Given the description of an element on the screen output the (x, y) to click on. 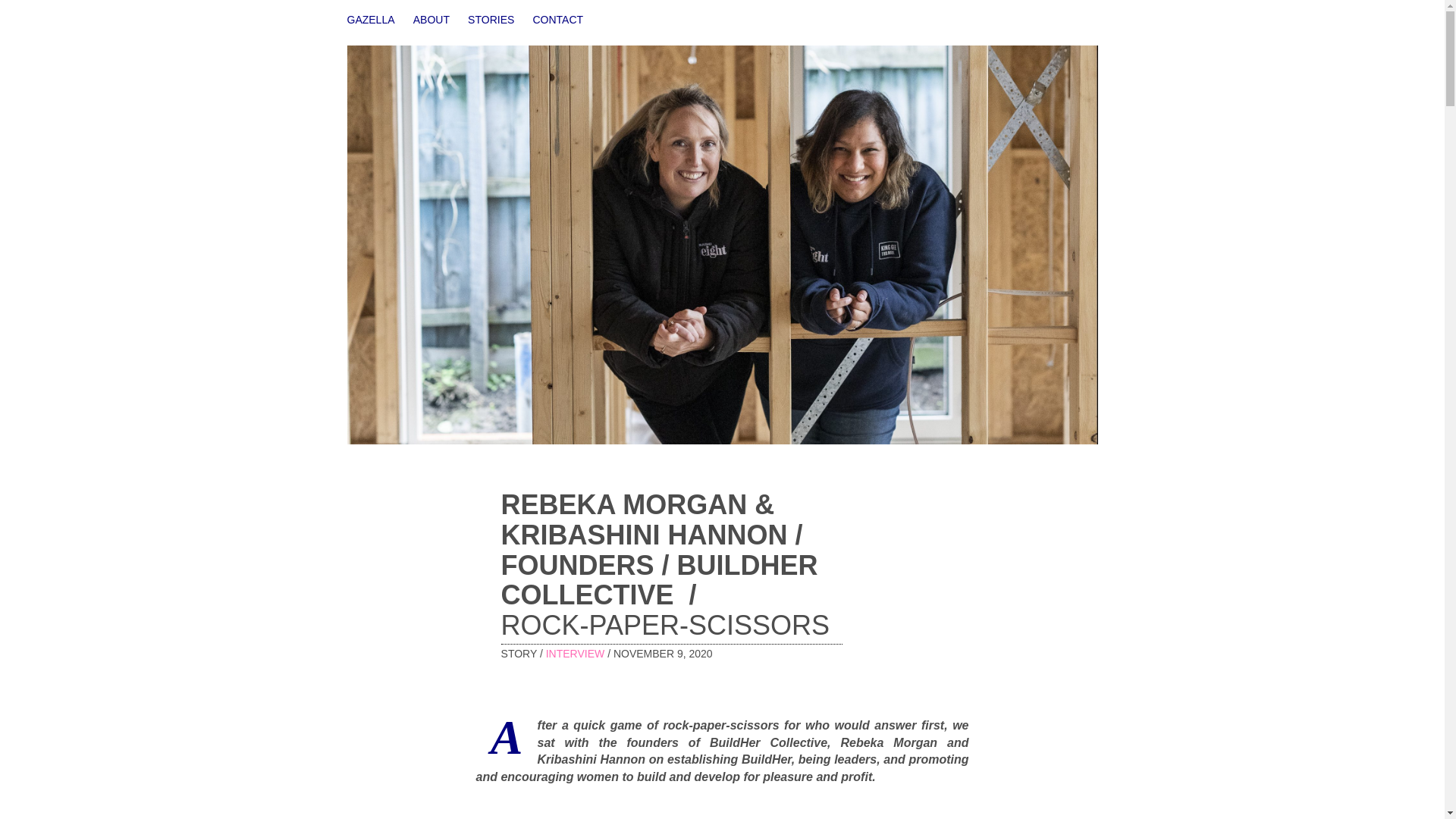
STORIES (490, 20)
INTERVIEW (575, 653)
GAZELLA (370, 20)
CONTACT (557, 20)
ABOUT (431, 20)
